Given the description of an element on the screen output the (x, y) to click on. 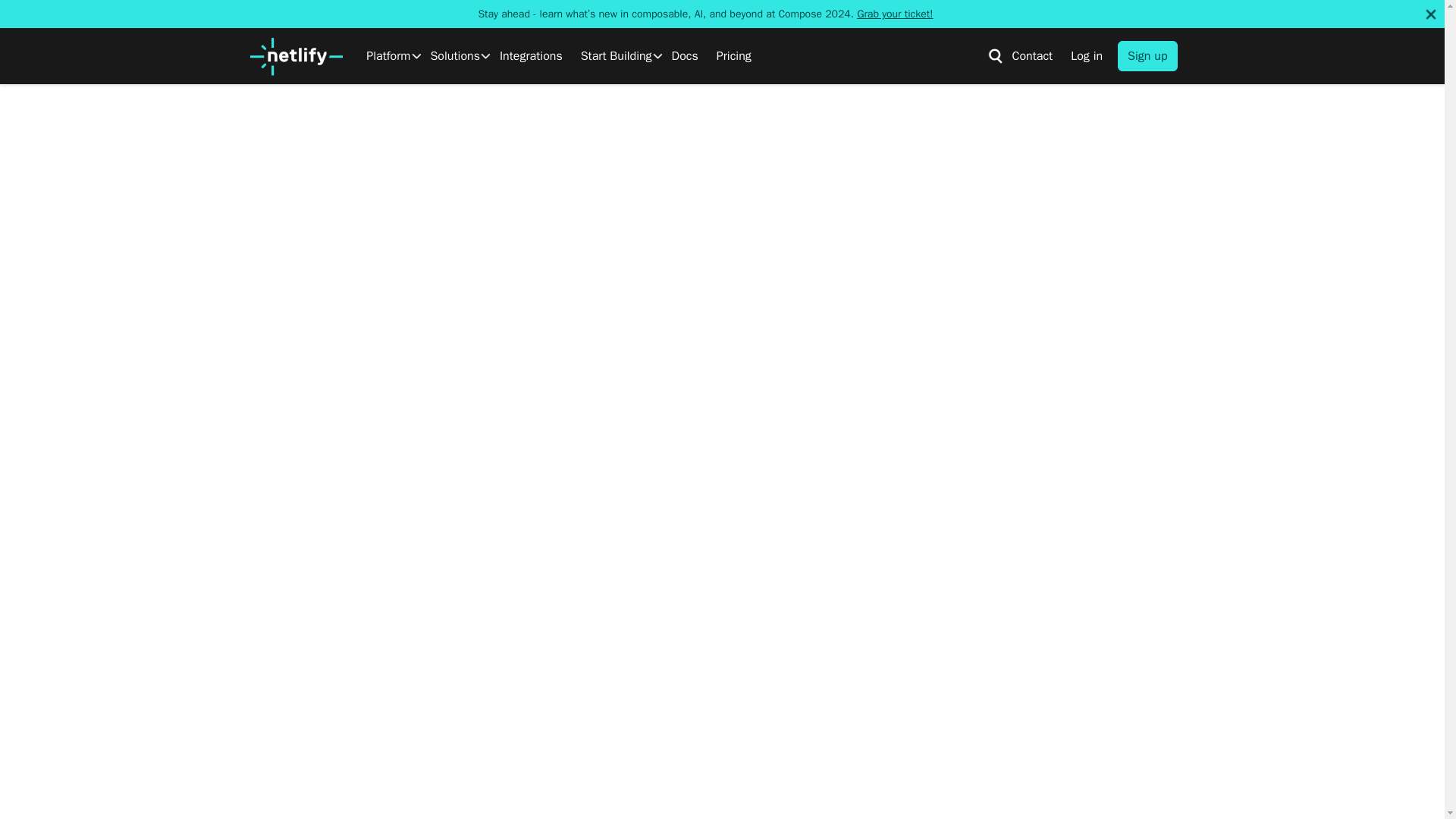
Grab your ticket! (895, 13)
Go to homepage (296, 56)
Integrations (531, 55)
Close announcement bar (1430, 13)
